Given the description of an element on the screen output the (x, y) to click on. 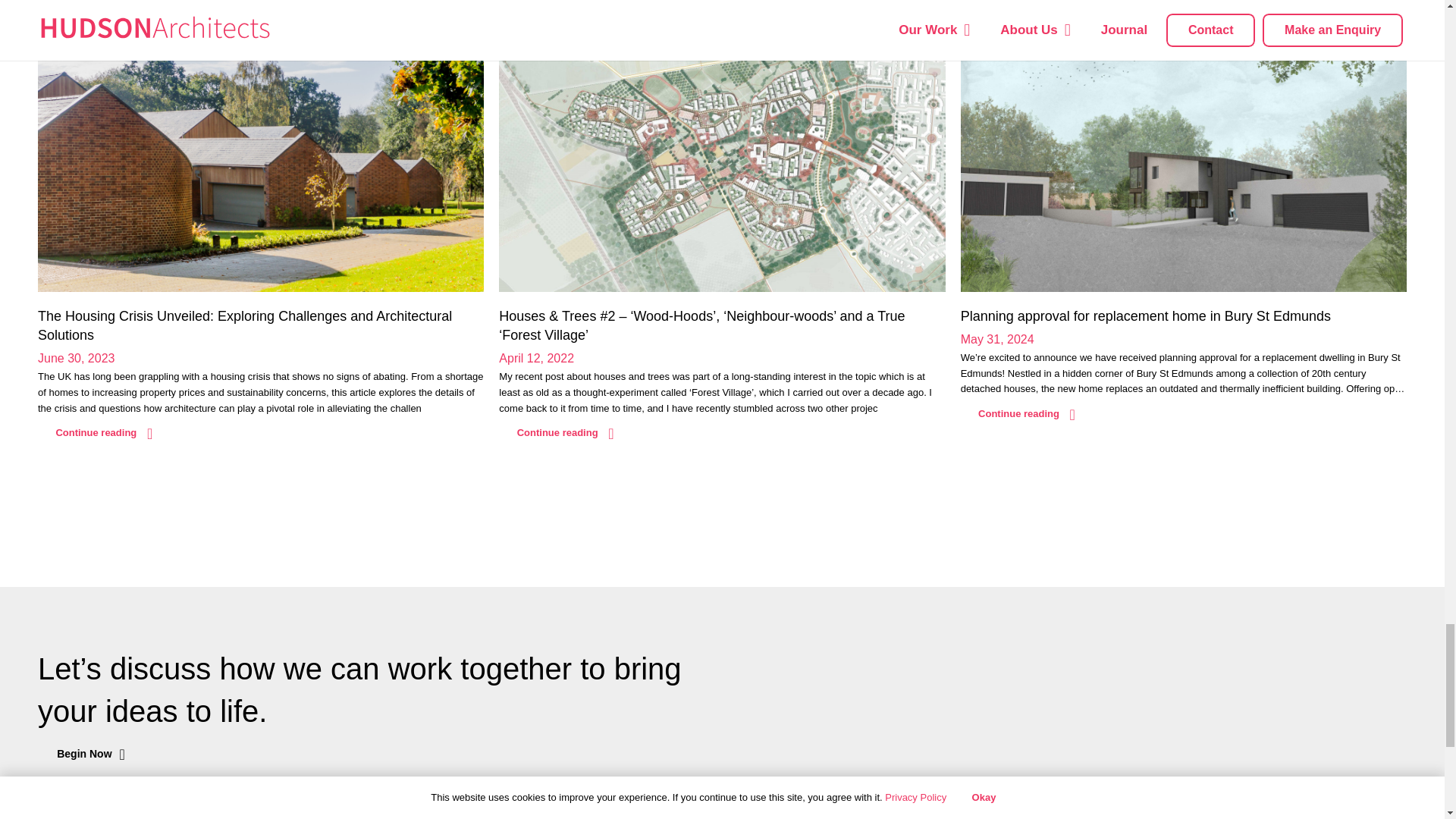
Continue reading (1026, 414)
Continue reading (103, 433)
Begin Now (90, 754)
Continue reading (565, 433)
